Given the description of an element on the screen output the (x, y) to click on. 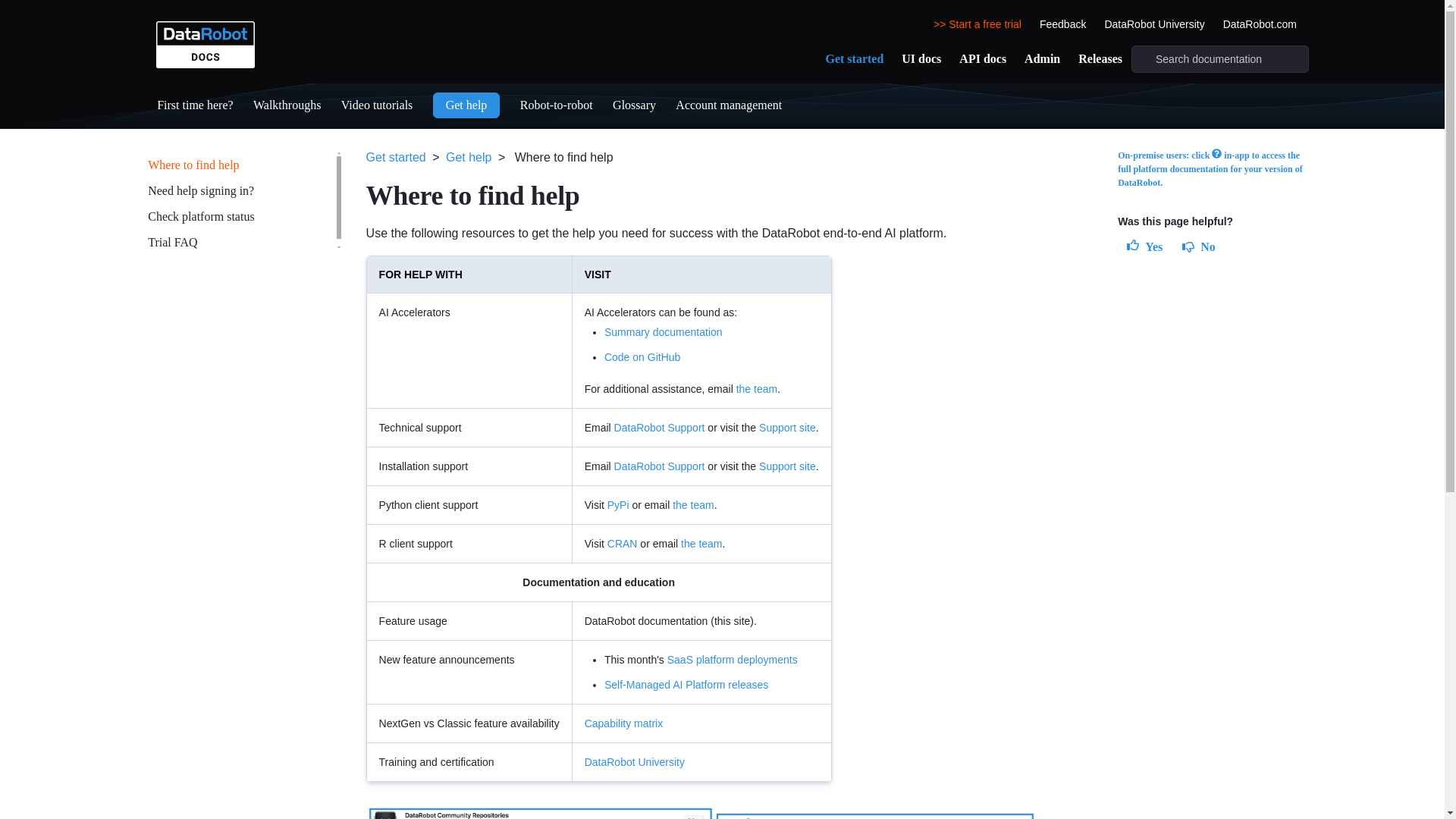
Get help (466, 104)
Video tutorials (376, 105)
DataRobot docs (204, 41)
Get started (853, 58)
Releases (1099, 58)
Account management (730, 105)
Robot-to-robot (555, 105)
Feedback (1062, 20)
First time here? (194, 105)
